Given the description of an element on the screen output the (x, y) to click on. 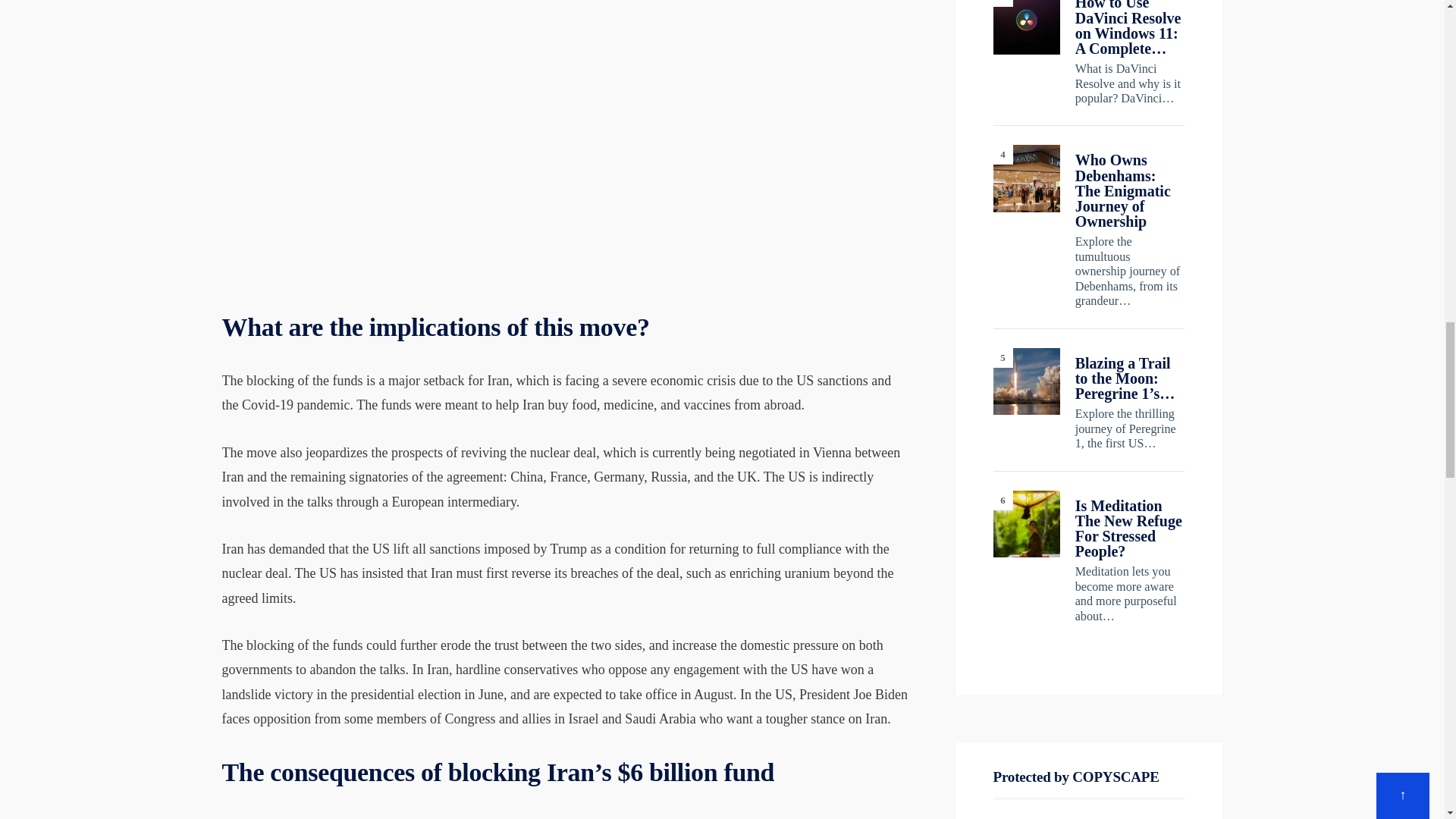
Blazing a Trail to the Moon: Peregrine 1's Historic Journey (1025, 381)
Who Owns Debenhams: The Enigmatic Journey of Ownership (1025, 177)
